Given the description of an element on the screen output the (x, y) to click on. 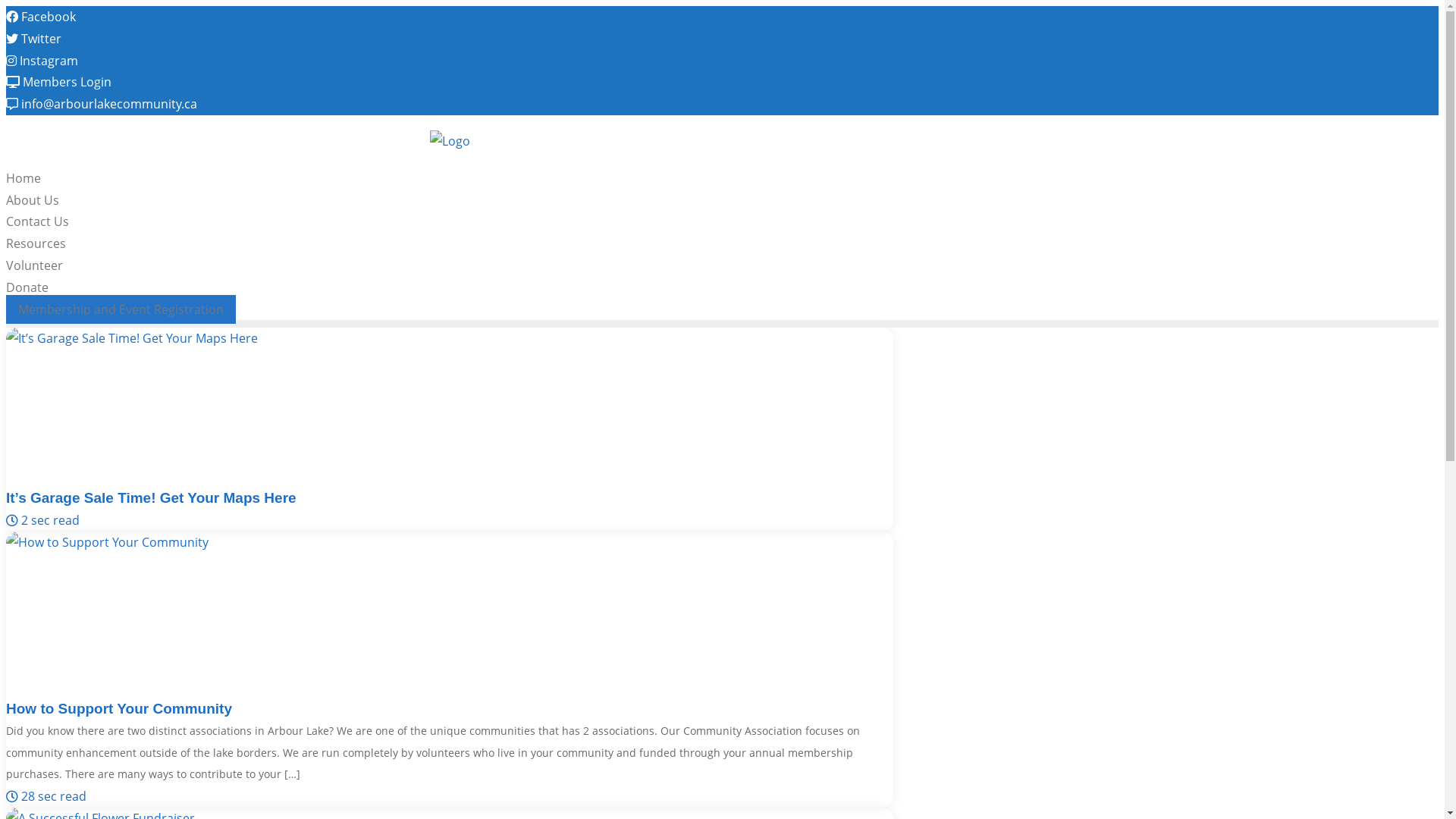
info@arbourlakecommunity.ca Element type: text (101, 103)
Members Login Element type: text (58, 81)
How to Support Your Community Element type: text (119, 708)
Contact Us Element type: text (37, 221)
Resources Element type: text (35, 243)
Twitter Element type: text (33, 38)
Facebook Element type: text (40, 16)
Volunteer Element type: text (34, 265)
Membership and Event Registration Element type: text (120, 308)
Donate Element type: text (27, 287)
Skip to content Element type: text (5, 5)
Home Element type: text (23, 177)
Instagram Element type: text (42, 60)
About Us Element type: text (32, 199)
